Given the description of an element on the screen output the (x, y) to click on. 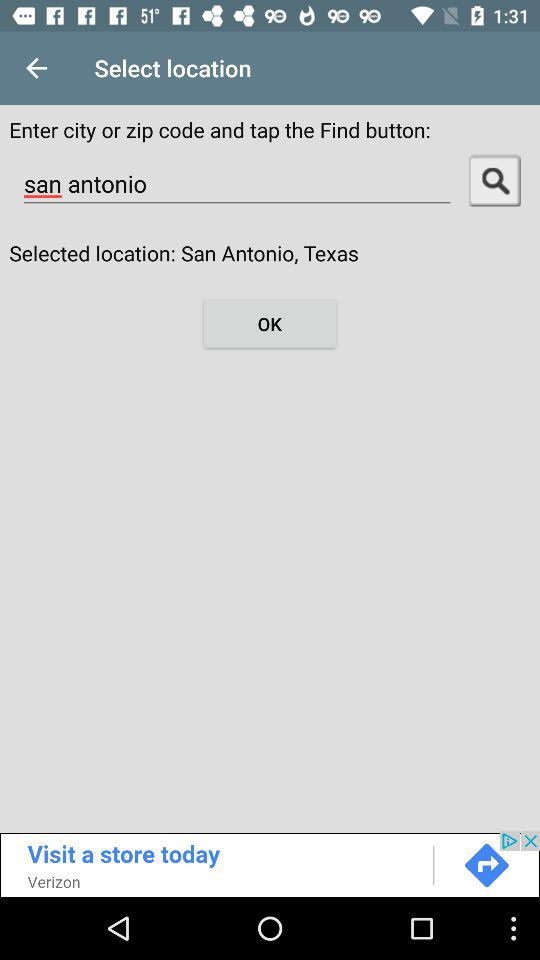
click on advertisement (270, 864)
